Given the description of an element on the screen output the (x, y) to click on. 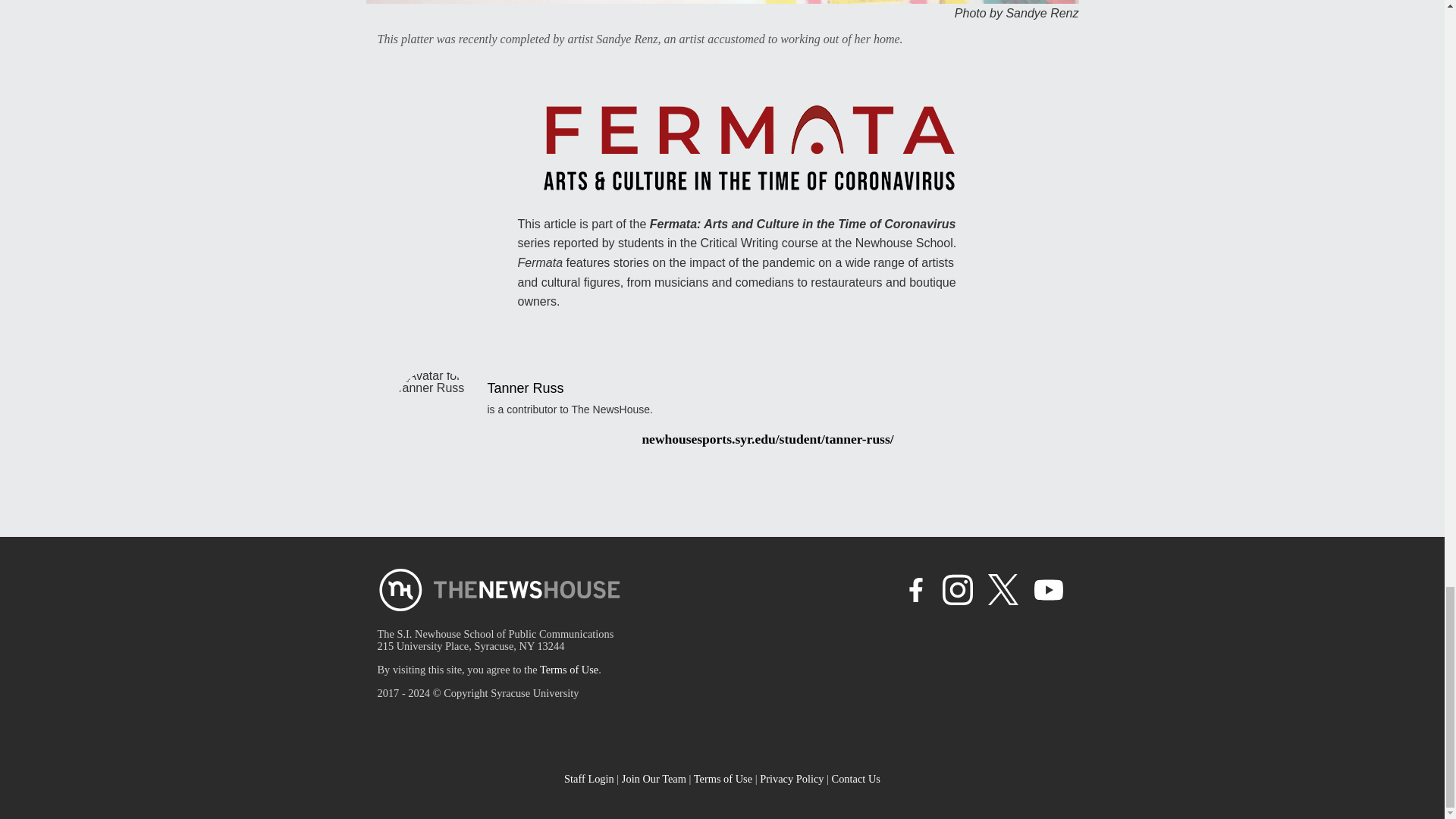
Staff Login (589, 778)
Join Our Team (653, 778)
Tanner Russ (524, 387)
Gravatar for Tanner Russ (433, 404)
Fermata: Arts and Culture in the Time of Coronavirus (802, 223)
Terms of Use (569, 669)
